Given the description of an element on the screen output the (x, y) to click on. 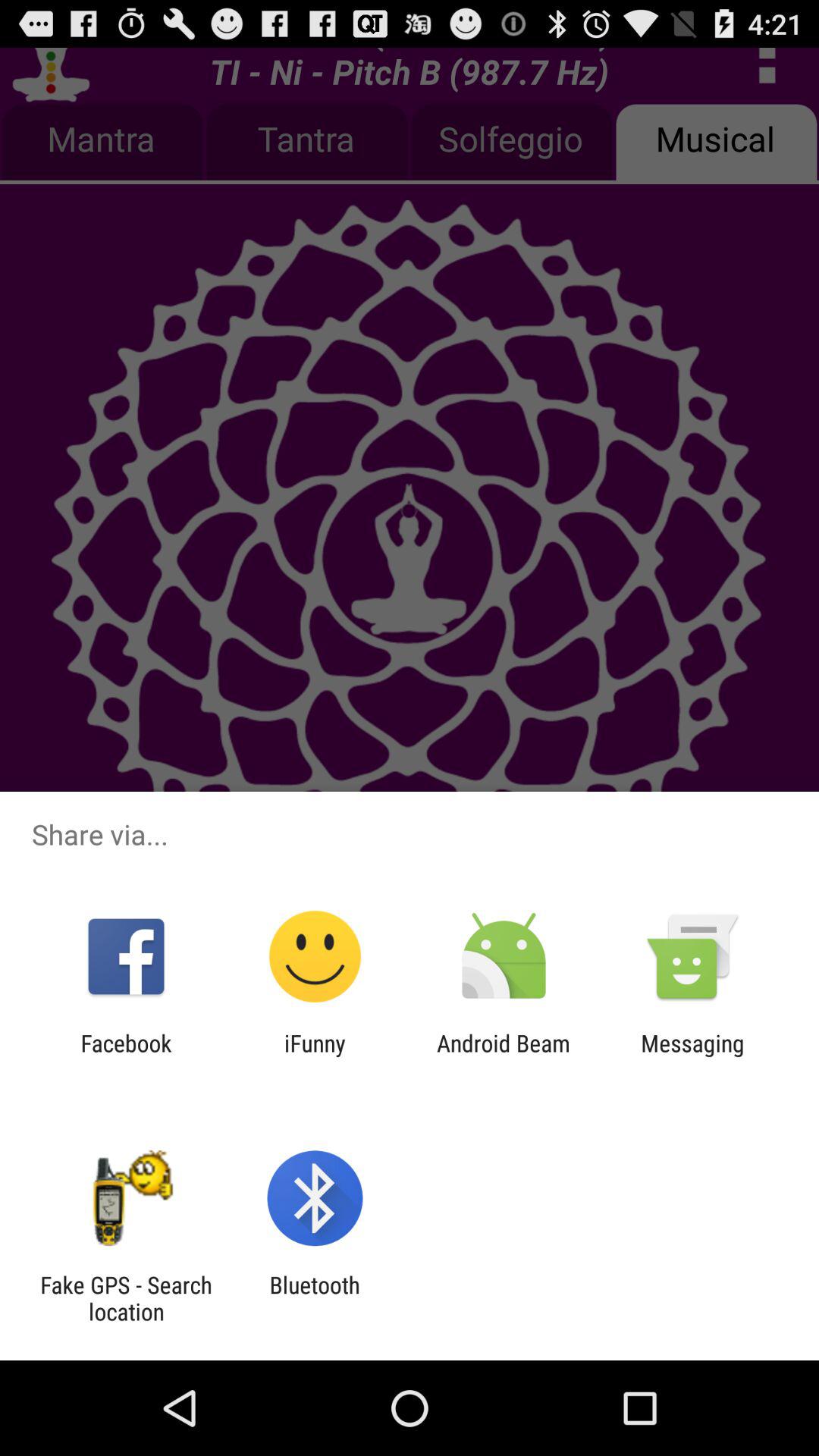
select the icon next to the bluetooth item (125, 1298)
